Given the description of an element on the screen output the (x, y) to click on. 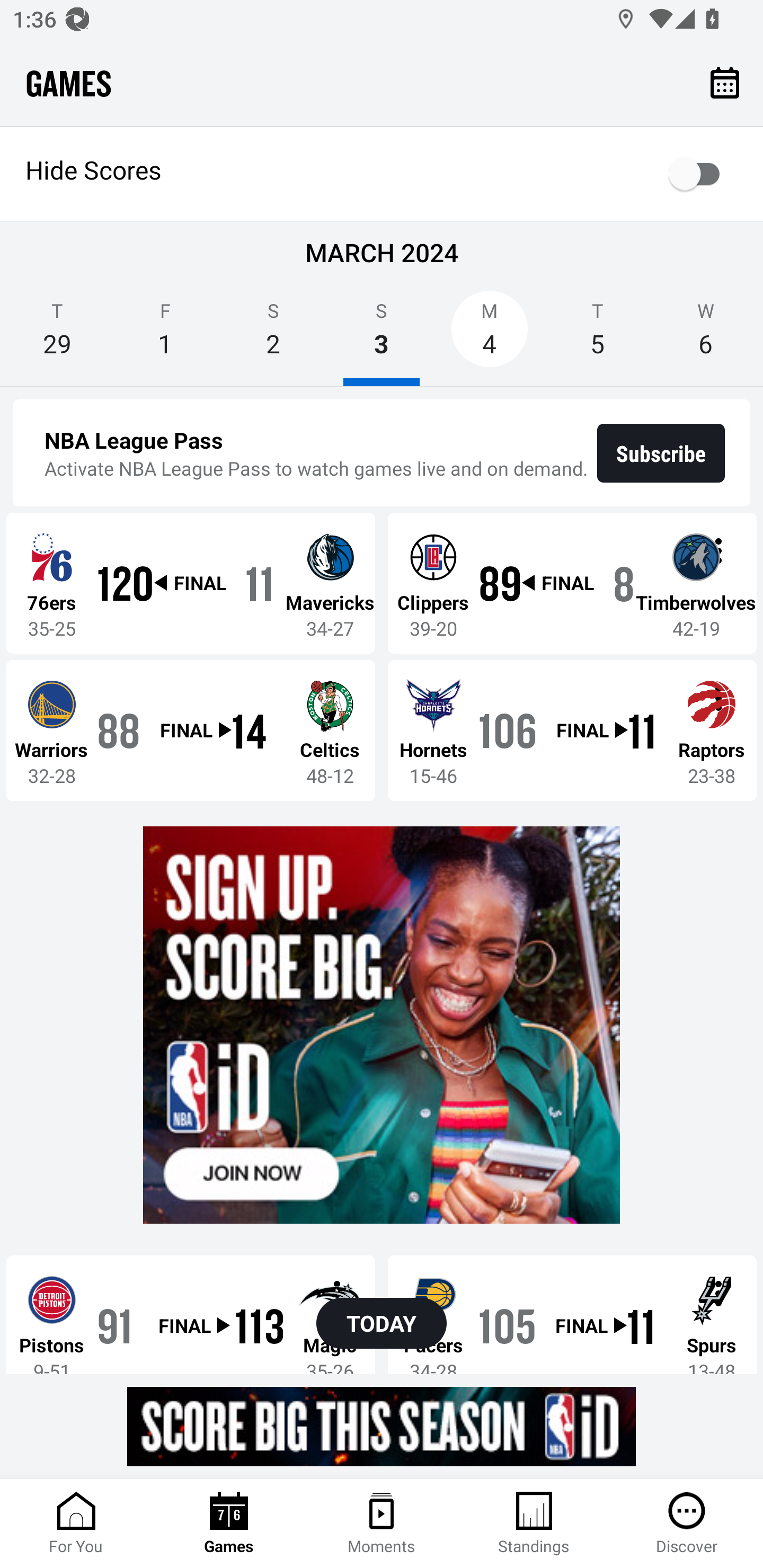
Calendar (724, 81)
Hide Scores (381, 174)
T 29 (57, 334)
F 1 (165, 334)
S 2 (273, 334)
S 3 (381, 334)
M 4 (489, 334)
T 5 (597, 334)
W 6 (705, 334)
Subscribe (660, 452)
TODAY (381, 1323)
For You (76, 1523)
Moments (381, 1523)
Standings (533, 1523)
Discover (686, 1523)
